Given the description of an element on the screen output the (x, y) to click on. 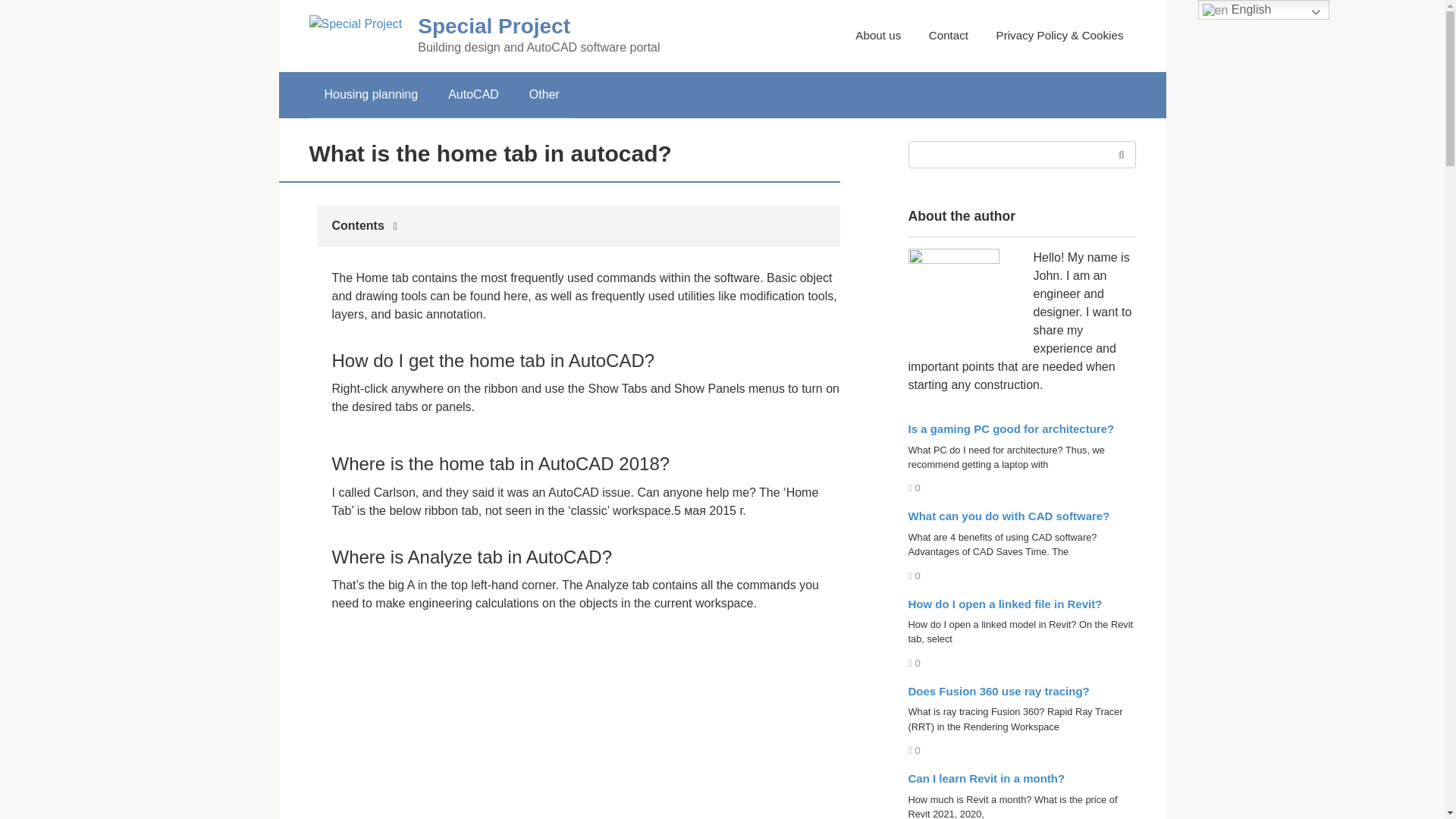
Other (544, 94)
About us (878, 35)
Comments (914, 663)
Comments (914, 749)
AutoCAD (472, 94)
Comments (914, 575)
Housing planning (370, 94)
Contact (948, 35)
Special Project (493, 25)
